Given the description of an element on the screen output the (x, y) to click on. 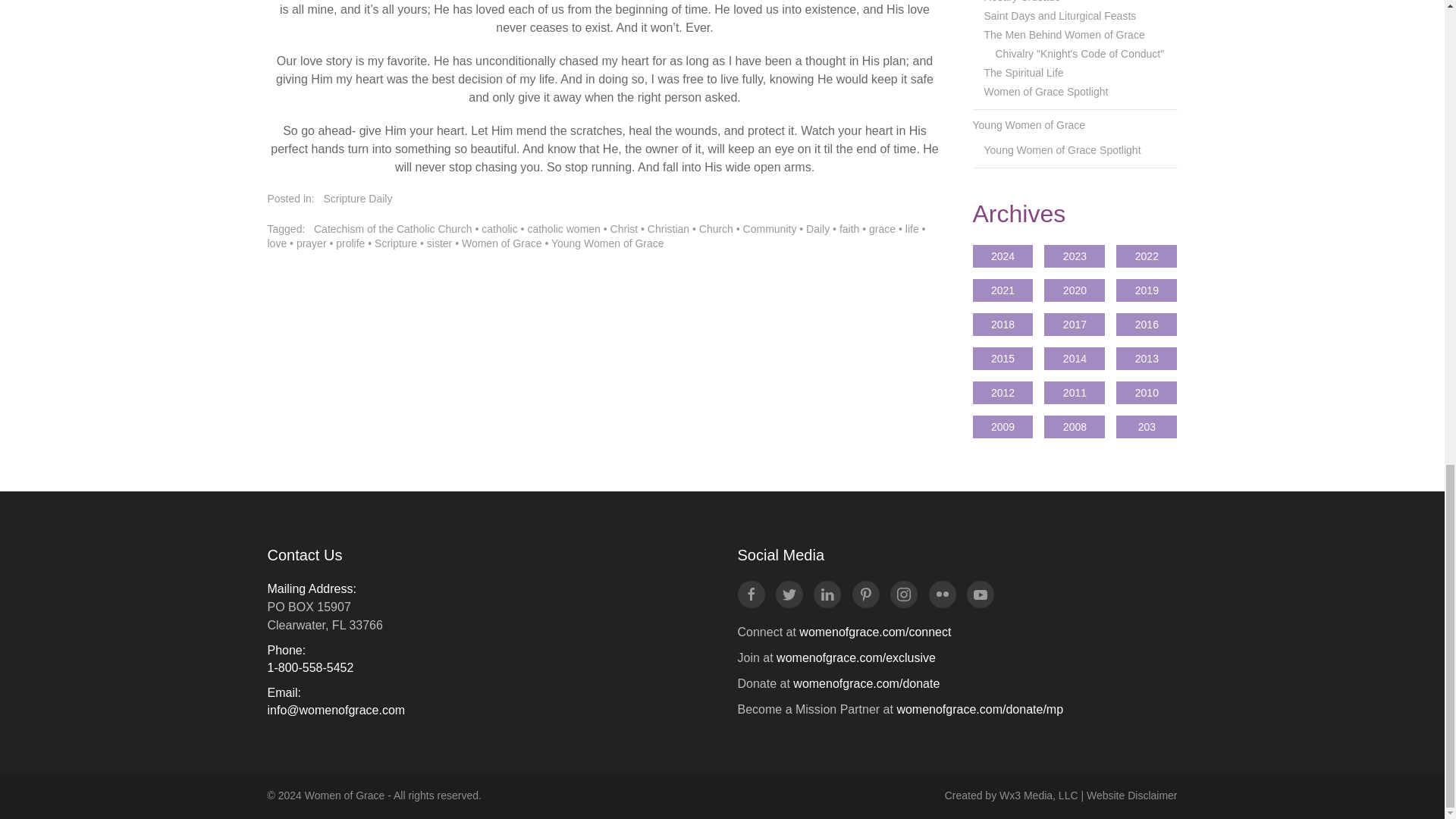
Community (769, 228)
Daily (817, 228)
life (911, 228)
Catechism of the Catholic Church (392, 228)
grace (882, 228)
prayer (311, 243)
love (276, 243)
faith (849, 228)
catholic women (563, 228)
Christ (624, 228)
